Given the description of an element on the screen output the (x, y) to click on. 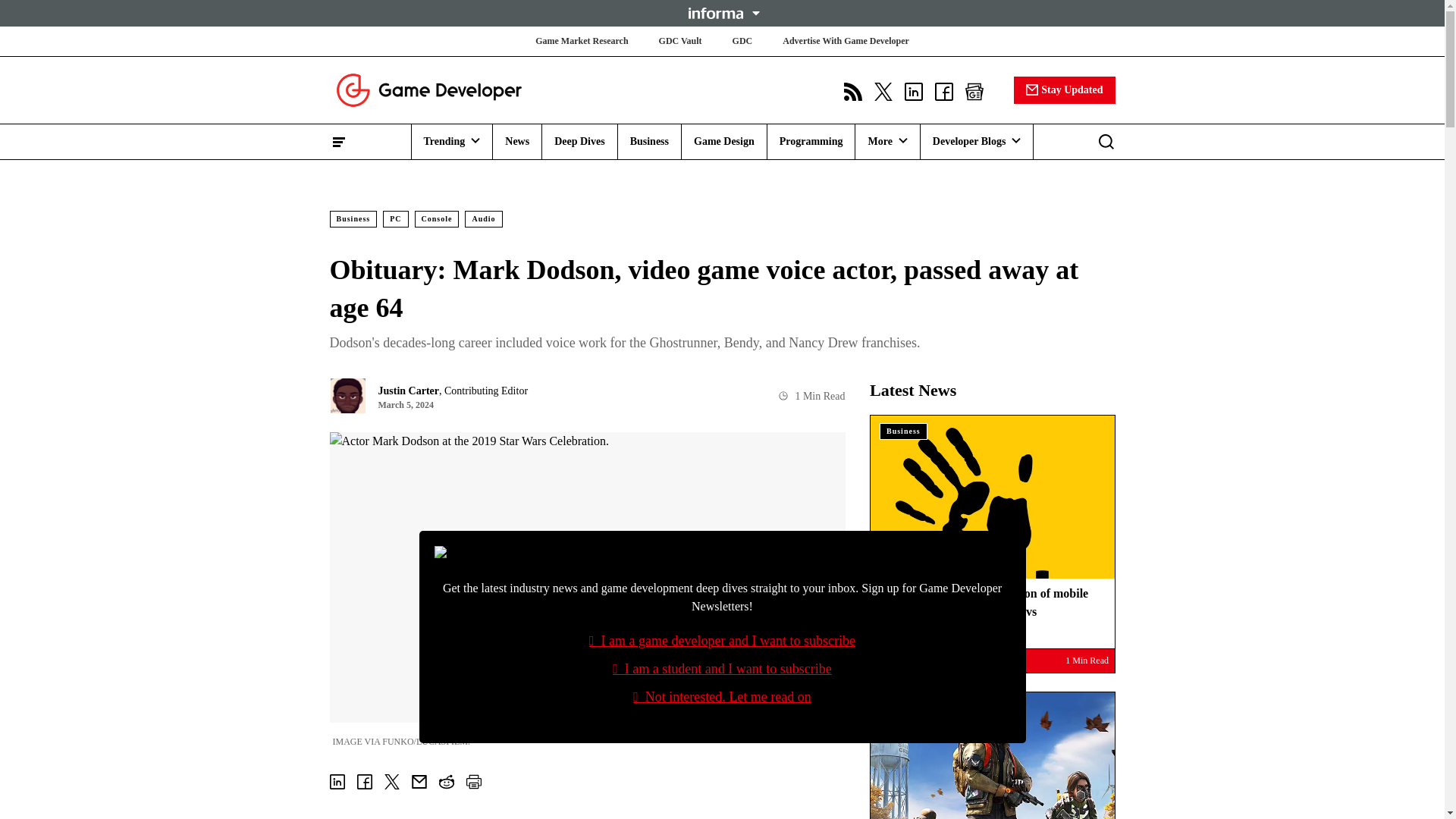
Business (649, 141)
Programming (810, 141)
Advertise With Game Developer (845, 41)
Picture of Justin Carter (347, 395)
Stay Updated (1064, 89)
GDC (742, 41)
Game Design (724, 141)
News (517, 141)
Game Market Research (581, 41)
GDC Vault (680, 41)
